Given the description of an element on the screen output the (x, y) to click on. 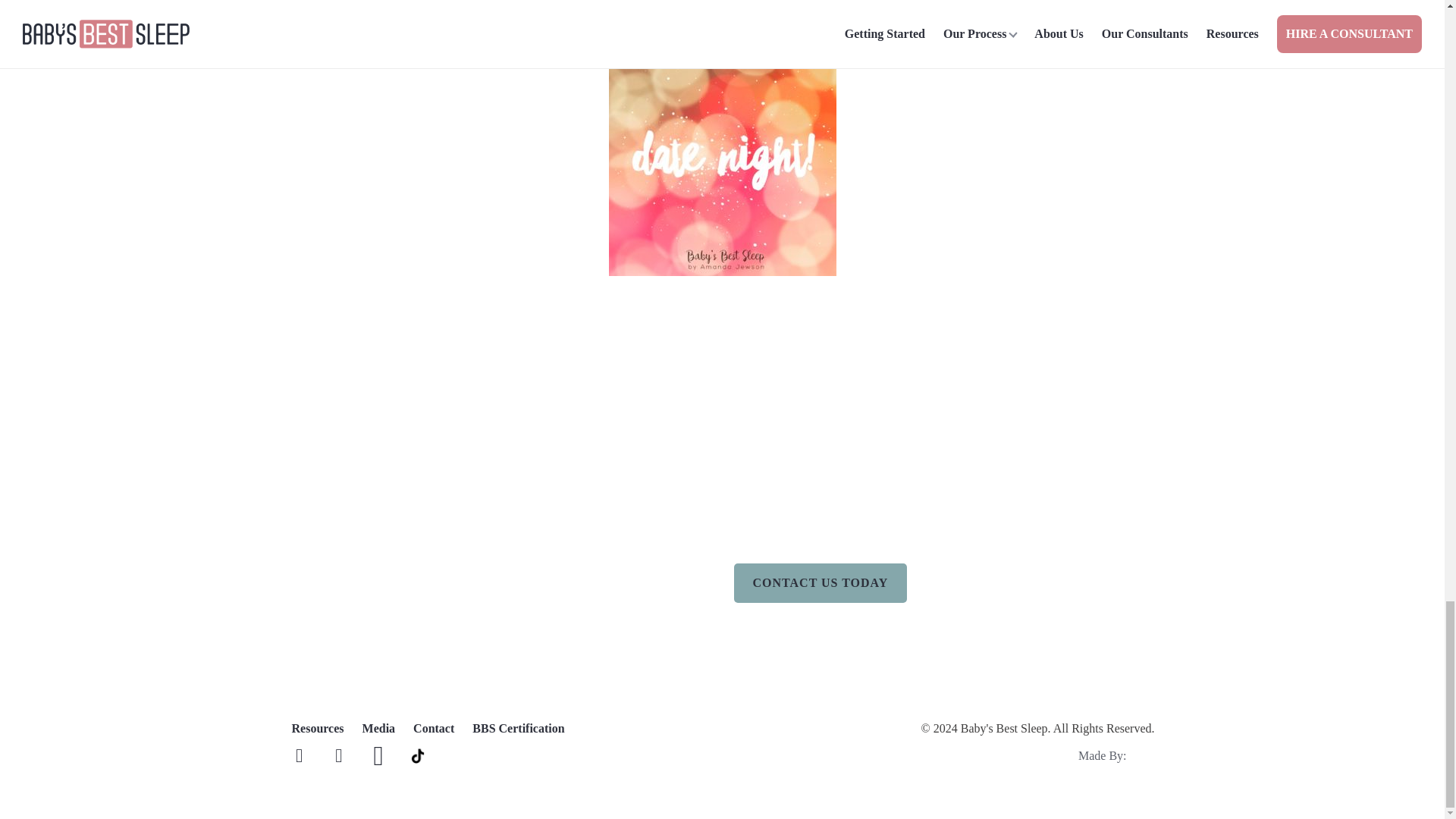
TikTok (417, 755)
BBS Certification (518, 728)
Twitter (338, 755)
Instagram (377, 755)
Facebook (298, 755)
Media (378, 728)
CONTACT US TODAY (820, 582)
Resources (317, 728)
Contact (433, 728)
